Given the description of an element on the screen output the (x, y) to click on. 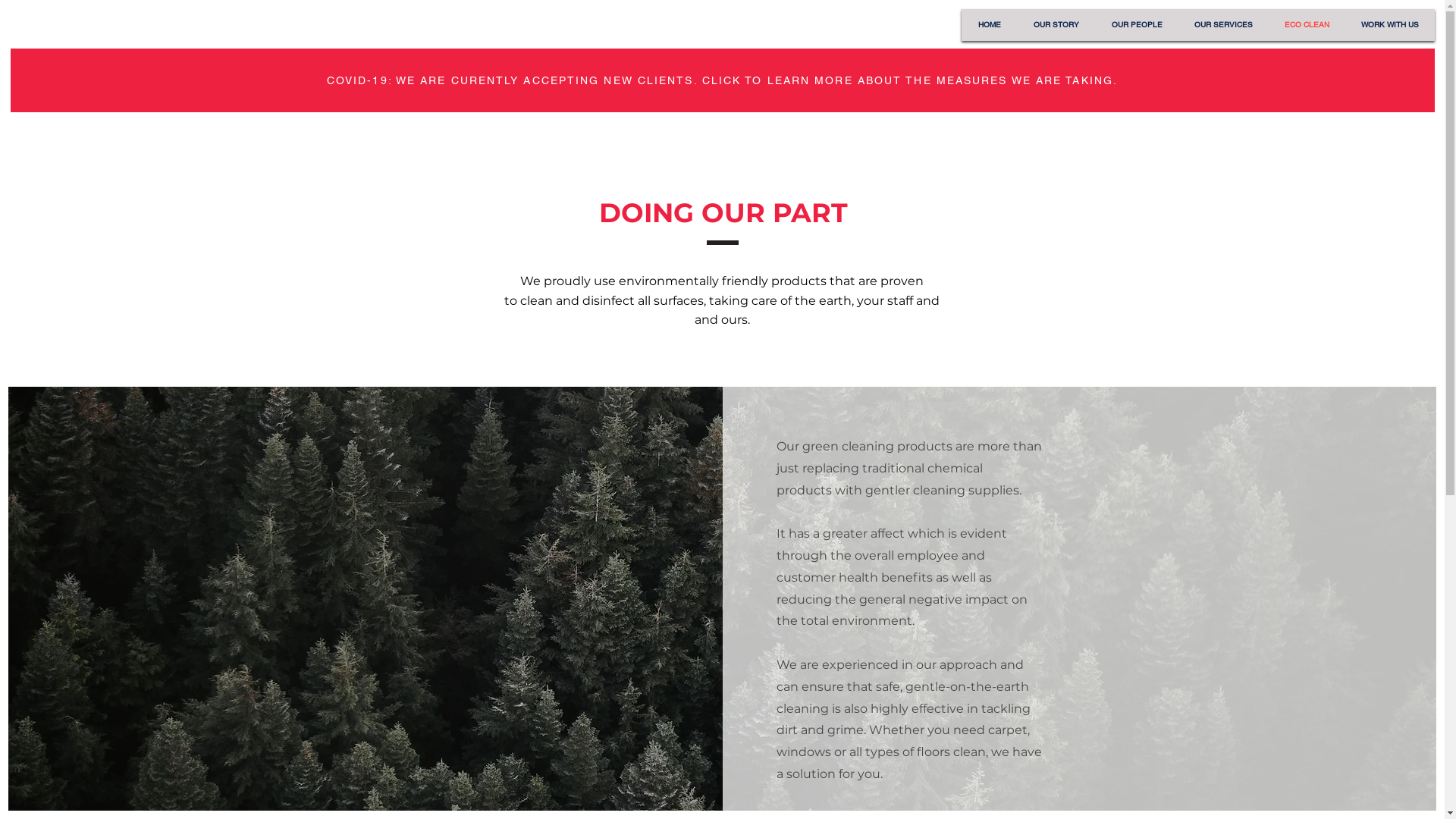
OUR STORY Element type: text (1055, 24)
WORK WITH US Element type: text (1389, 24)
OUR PEOPLE Element type: text (1136, 24)
HOME Element type: text (989, 24)
ECO CLEAN Element type: text (1306, 24)
OUR SERVICES Element type: text (1223, 24)
